Given the description of an element on the screen output the (x, y) to click on. 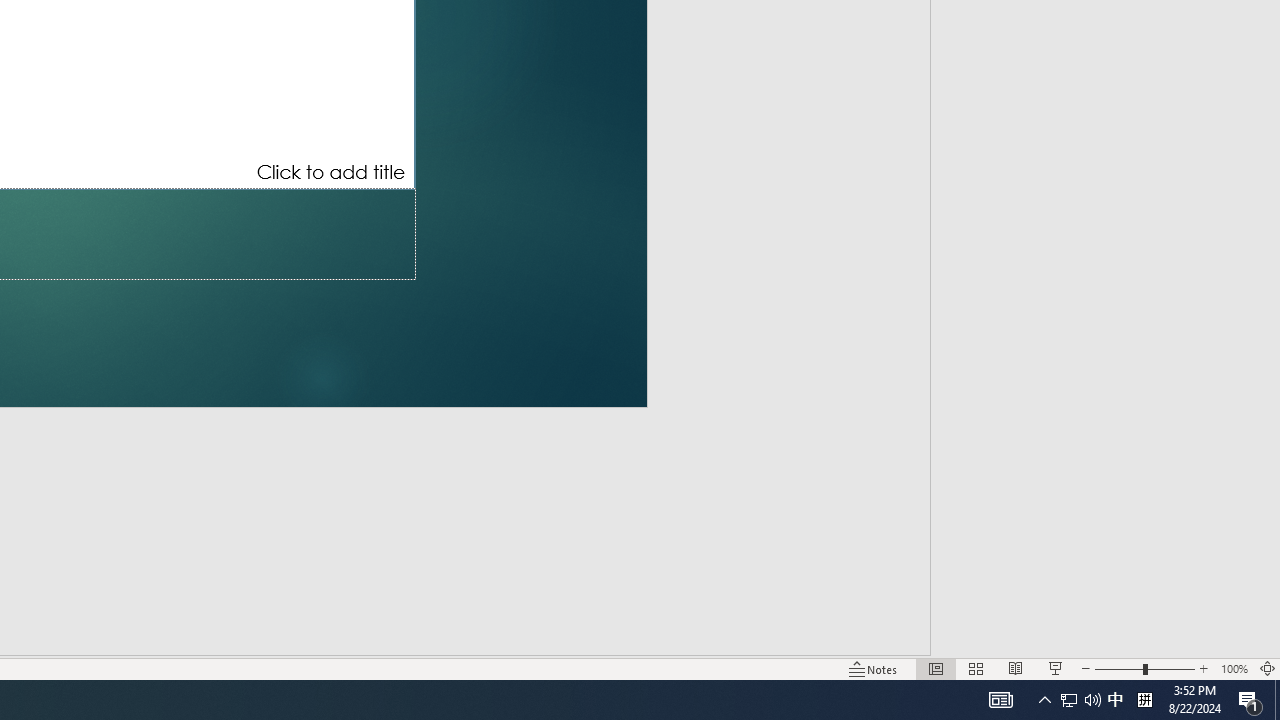
Zoom 100% (1234, 668)
